Given the description of an element on the screen output the (x, y) to click on. 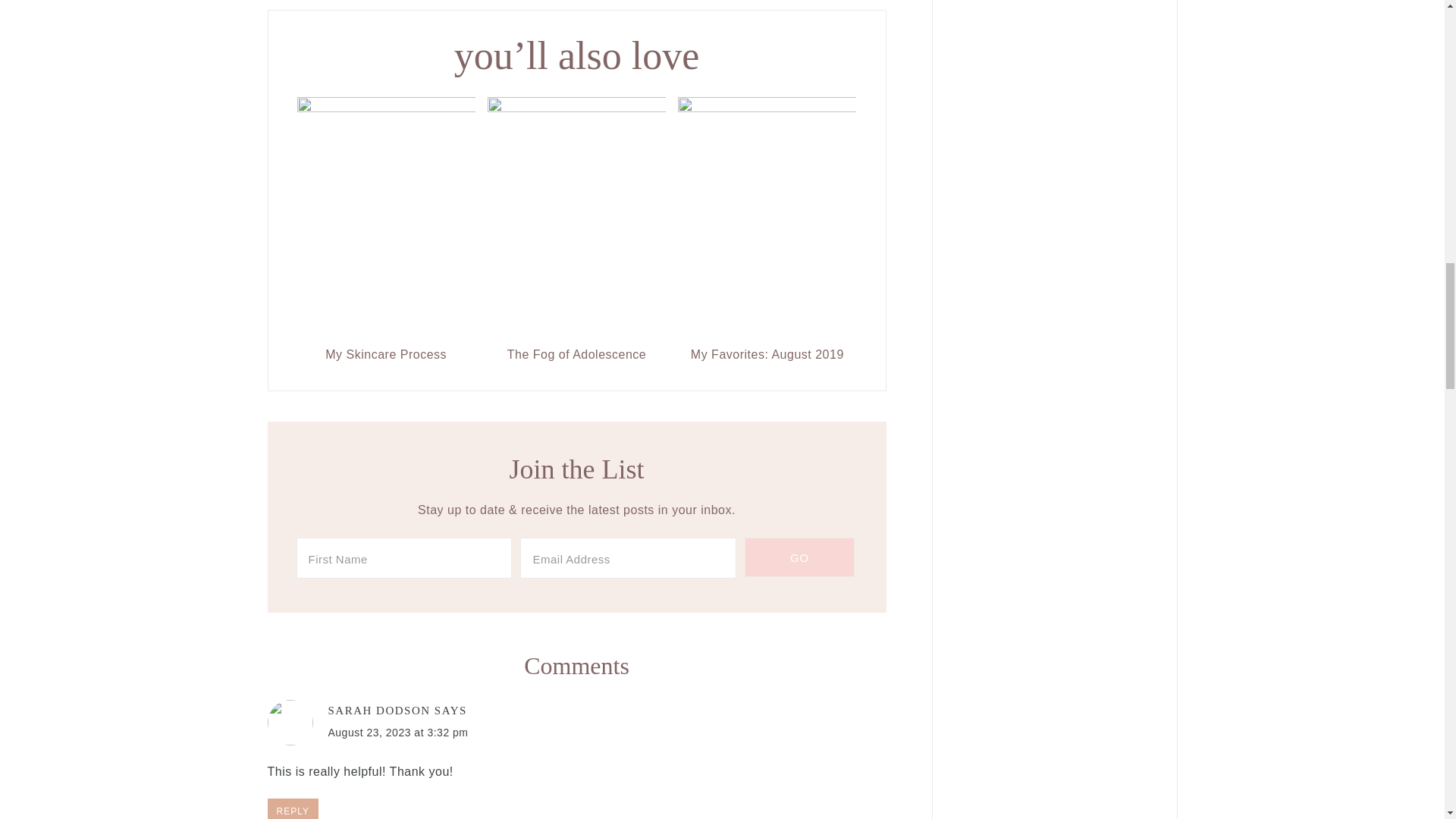
Permanent Link to My Favorites:  August 2019 (767, 107)
Permanent Link to The Fog of Adolescence (576, 107)
Permanent Link to My Favorites:  August 2019 (767, 354)
Permanent Link to My Skincare Process (386, 354)
Permanent Link to My Skincare Process (386, 107)
Permanent Link to The Fog of Adolescence (576, 354)
Go (798, 557)
